Given the description of an element on the screen output the (x, y) to click on. 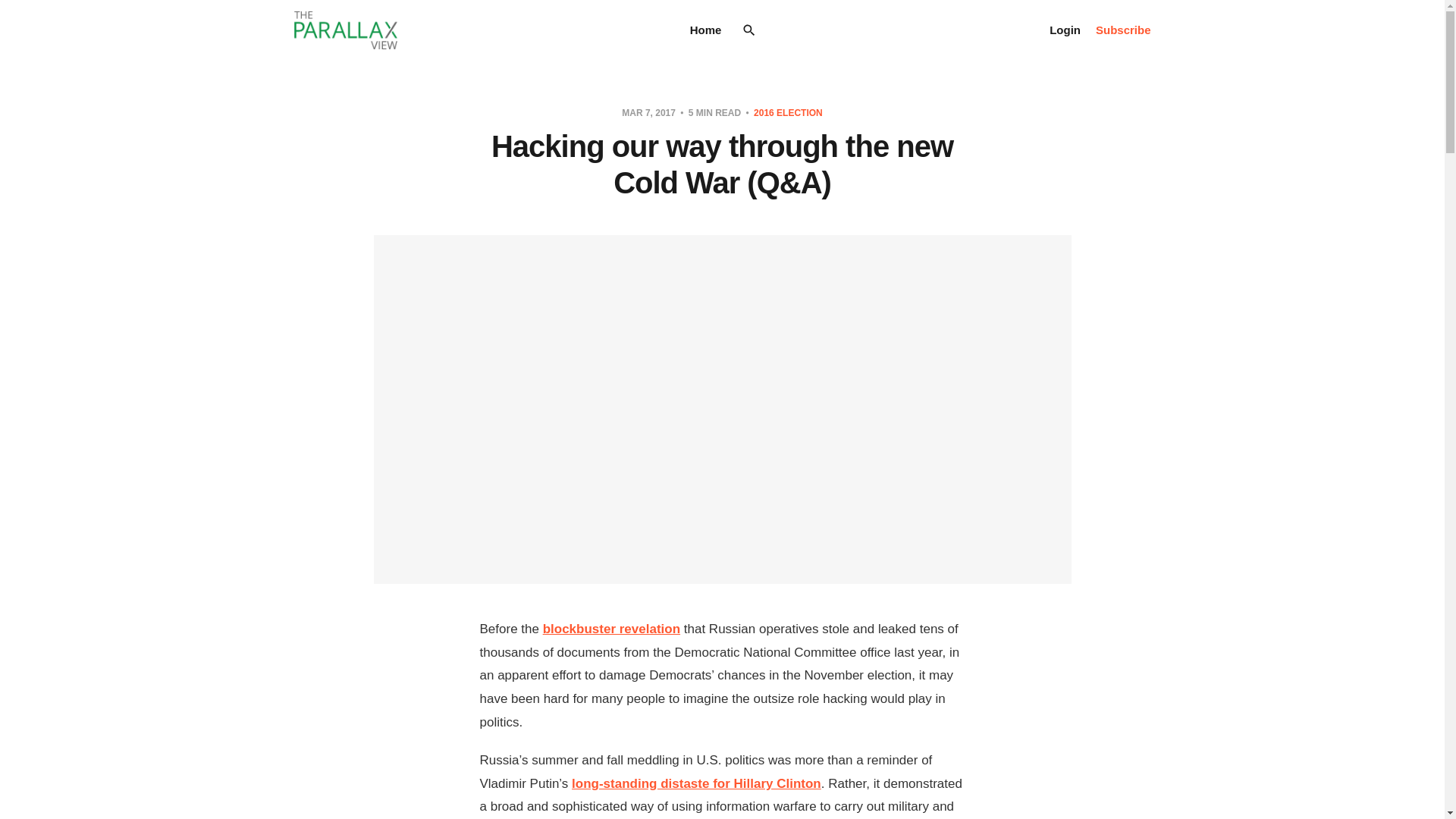
Login (1064, 30)
blockbuster revelation (611, 628)
long-standing distaste for Hillary Clinton (696, 783)
Home (706, 30)
Subscribe (1123, 30)
2016 ELECTION (788, 112)
